Given the description of an element on the screen output the (x, y) to click on. 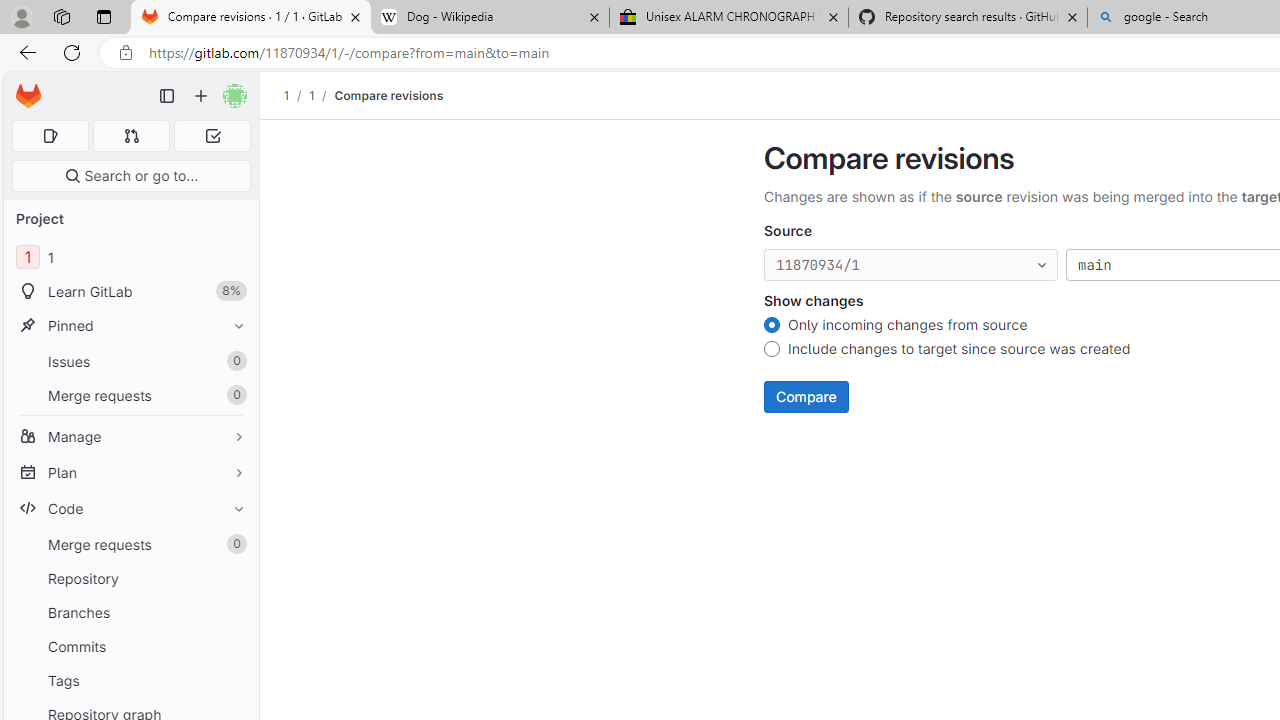
Pinned (130, 325)
Repository (130, 578)
Merge requests 0 (130, 543)
11 (130, 257)
Unpin Issues (234, 361)
Branches (130, 612)
11870934/1 (911, 265)
Compare revisions (389, 95)
Plan (130, 471)
Compare revisions (389, 95)
